Given the description of an element on the screen output the (x, y) to click on. 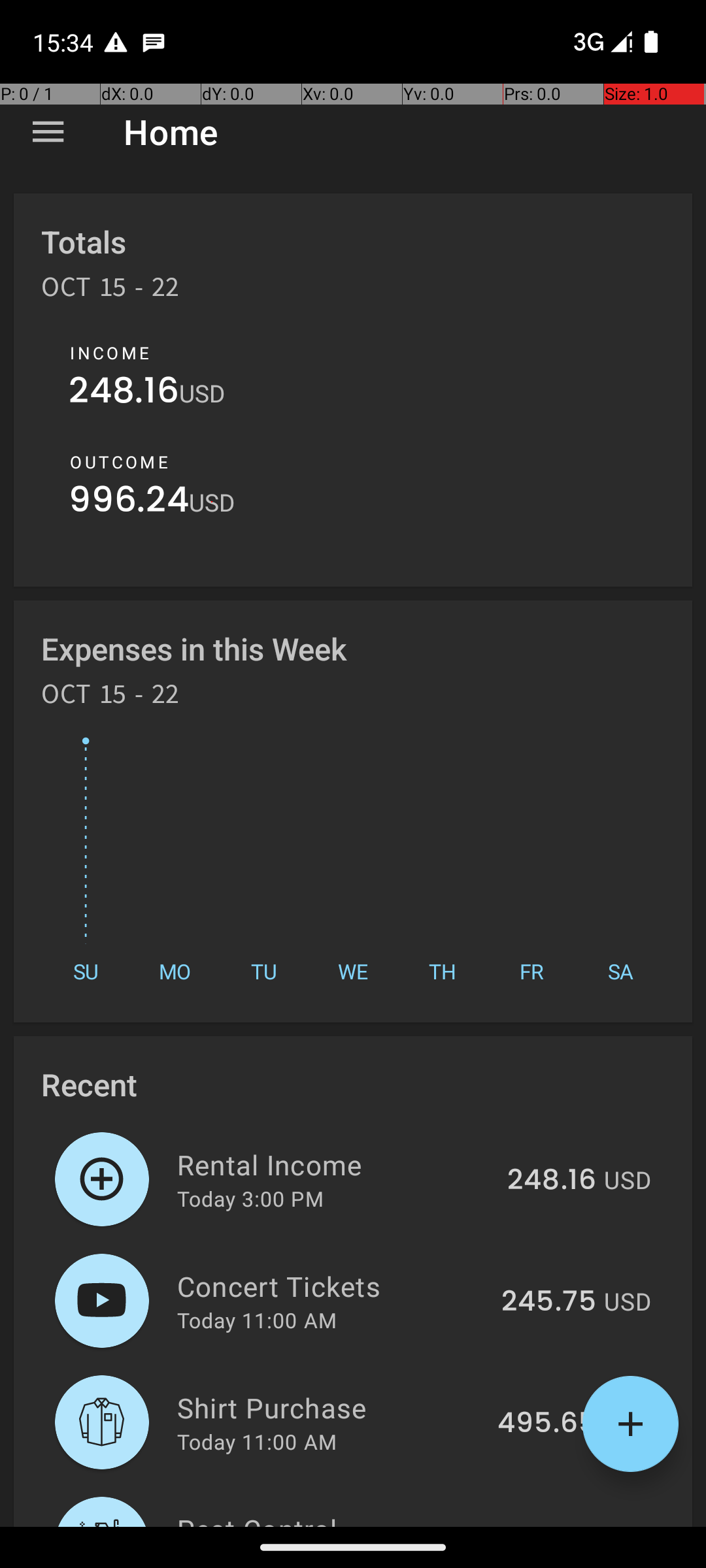
248.16 Element type: android.widget.TextView (123, 393)
996.24 Element type: android.widget.TextView (128, 502)
Rental Income Element type: android.widget.TextView (334, 1164)
Today 3:00 PM Element type: android.widget.TextView (250, 1198)
Concert Tickets Element type: android.widget.TextView (331, 1285)
Today 11:00 AM Element type: android.widget.TextView (256, 1320)
245.75 Element type: android.widget.TextView (548, 1301)
Shirt Purchase Element type: android.widget.TextView (329, 1407)
495.65 Element type: android.widget.TextView (546, 1423)
Pest Control Element type: android.widget.TextView (338, 1518)
125.01 Element type: android.widget.TextView (555, 1524)
